Given the description of an element on the screen output the (x, y) to click on. 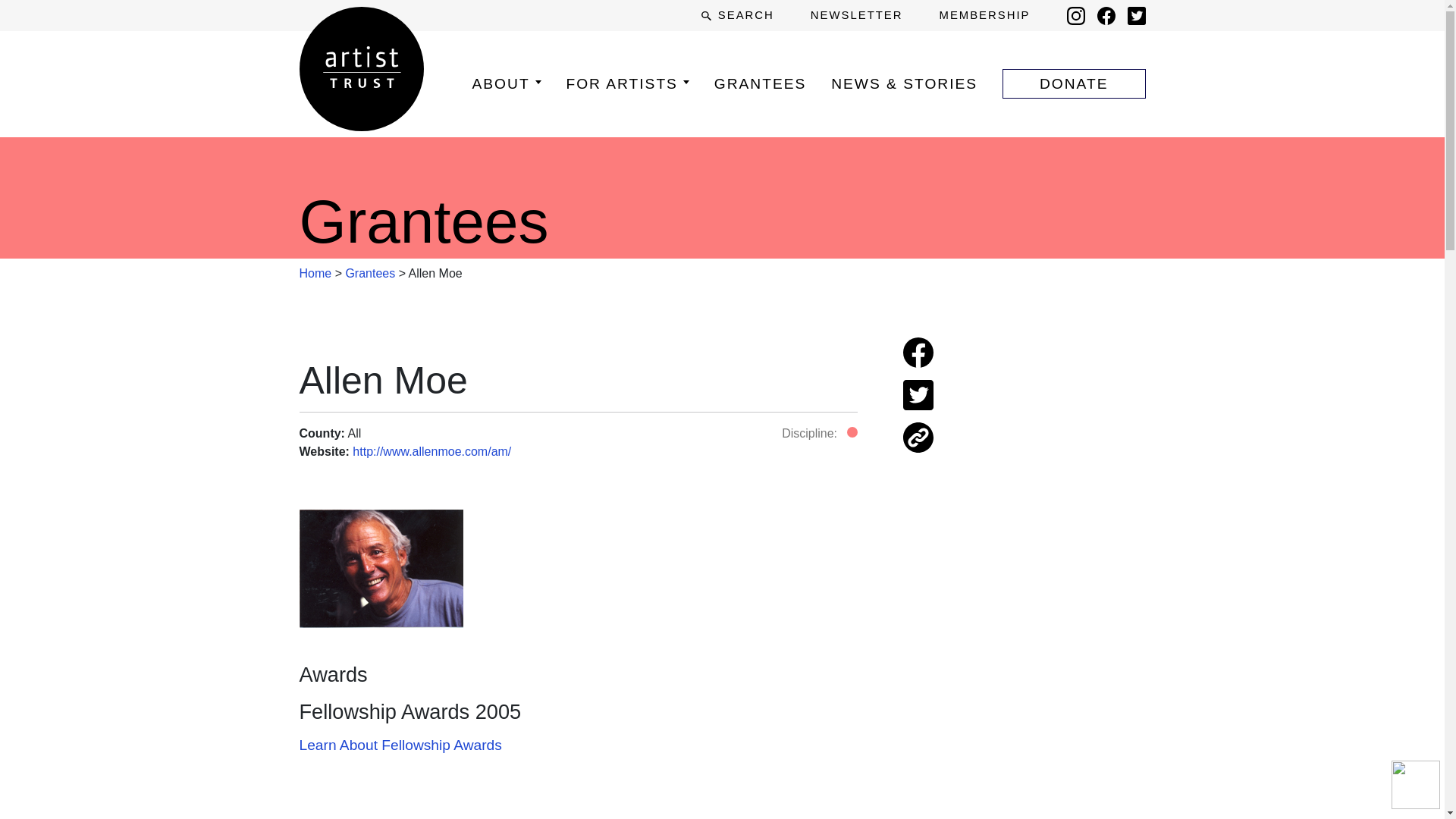
Facebook (1105, 15)
Instagram (1074, 15)
DONATE (1074, 83)
ABOUT (505, 83)
Twitter (1135, 15)
Learn About Fellowship Awards (399, 744)
FOR ARTISTS (627, 83)
Grantees (369, 273)
SEARCH (737, 14)
MoeP (380, 568)
